Given the description of an element on the screen output the (x, y) to click on. 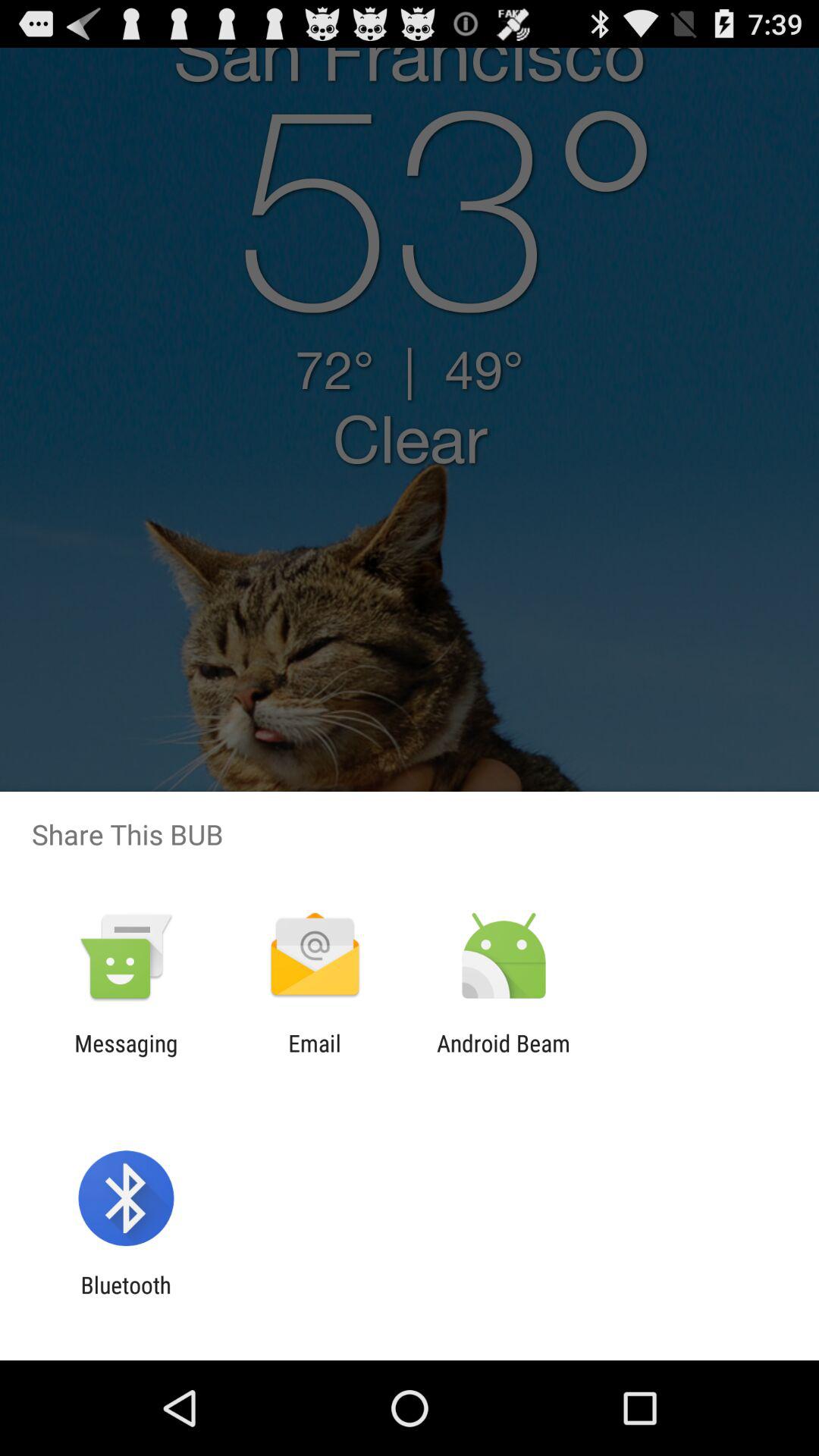
flip until the email item (314, 1056)
